Given the description of an element on the screen output the (x, y) to click on. 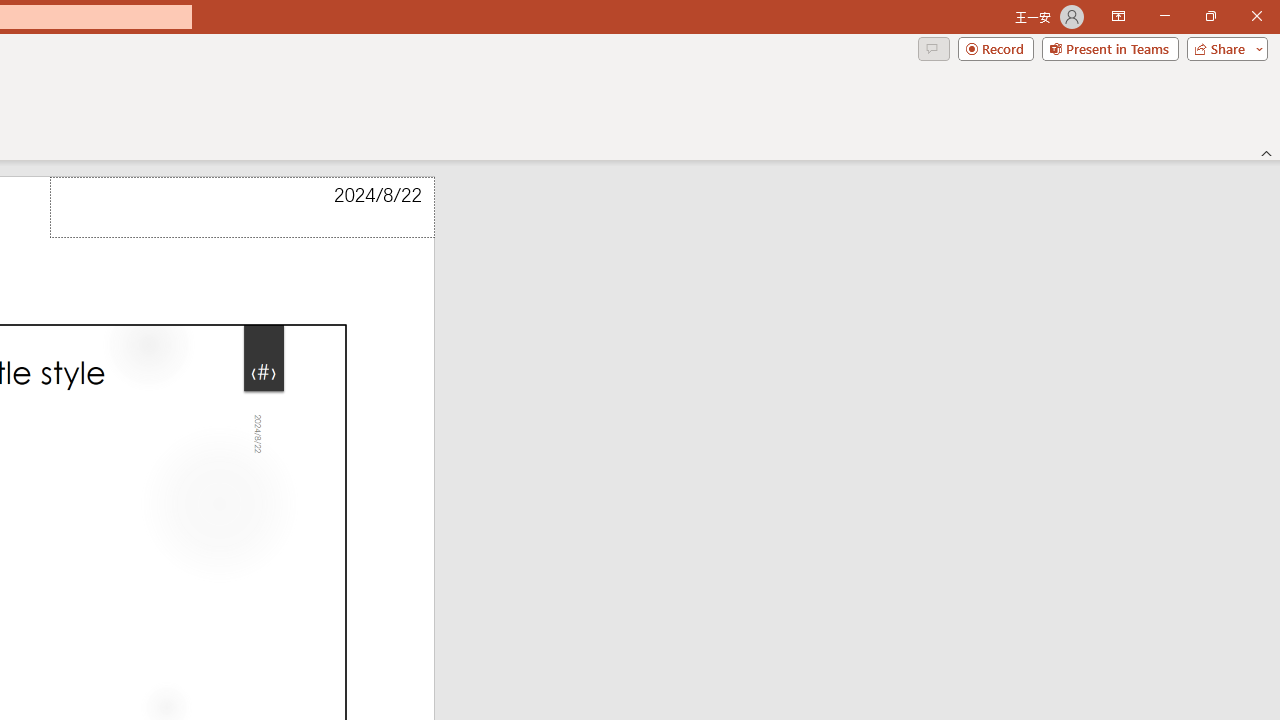
Date (242, 207)
